Given the description of an element on the screen output the (x, y) to click on. 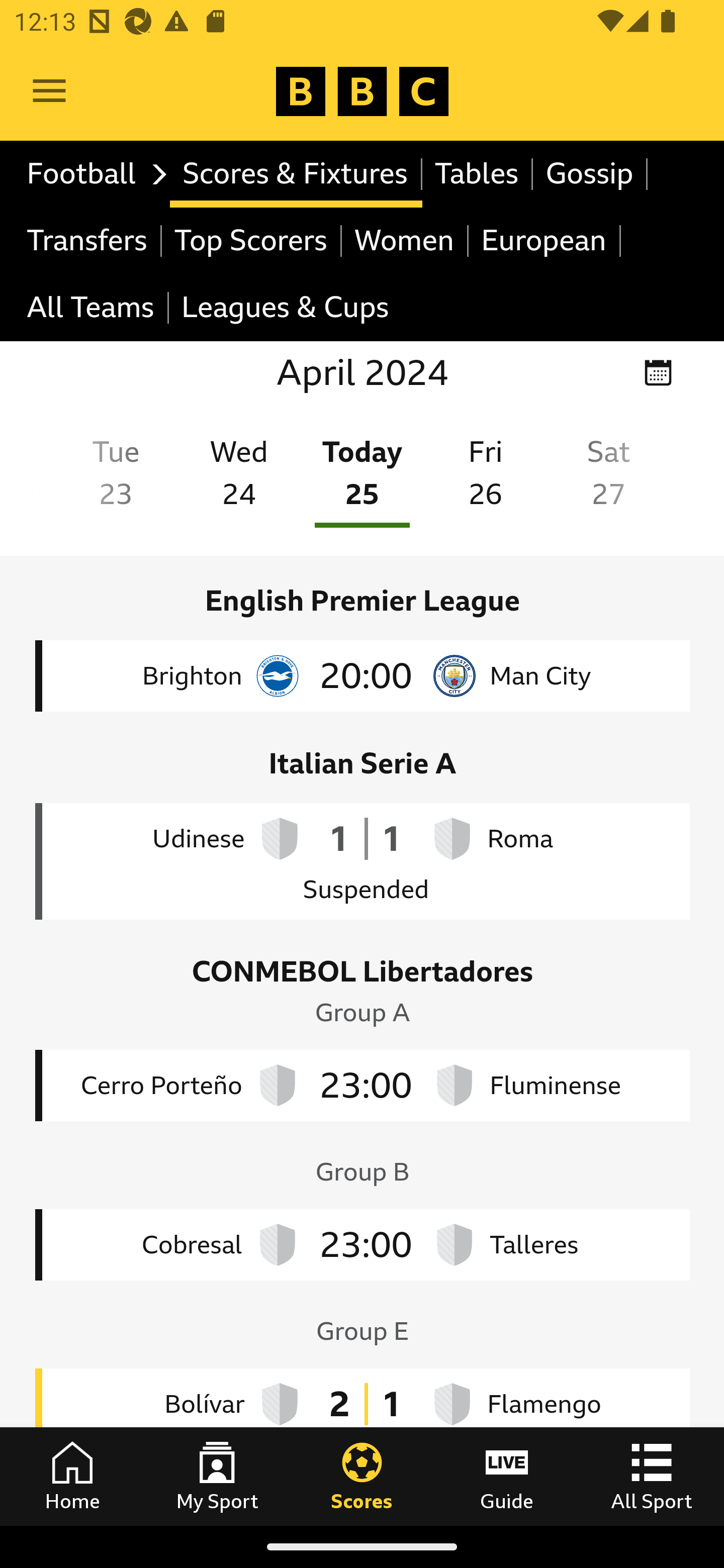
Open Menu (49, 91)
Football (91, 173)
Scores & Fixtures (295, 173)
Tables (477, 173)
Gossip (590, 173)
Transfers (88, 240)
Top Scorers (251, 240)
Women (405, 240)
European (544, 240)
All Teams (91, 308)
Leagues & Cups (284, 308)
Home (72, 1475)
My Sport (216, 1475)
Guide (506, 1475)
All Sport (651, 1475)
